Given the description of an element on the screen output the (x, y) to click on. 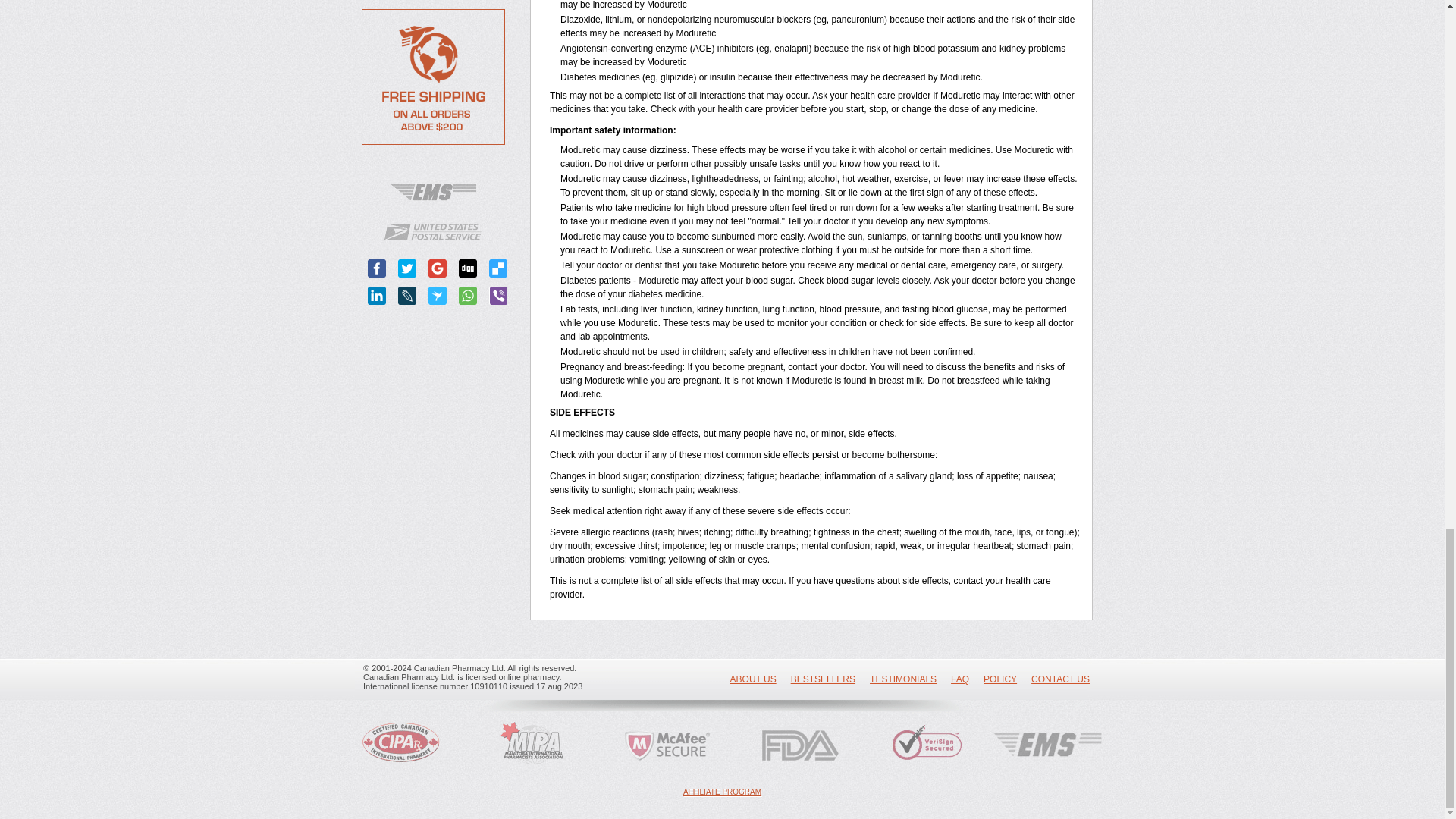
Delicious (497, 268)
Whatsapp (467, 295)
Digg (467, 268)
Livejournal (406, 295)
Viber (497, 295)
LinkedIn (376, 295)
Surfingbird (437, 295)
Facebook (376, 268)
Twitter (406, 268)
